Given the description of an element on the screen output the (x, y) to click on. 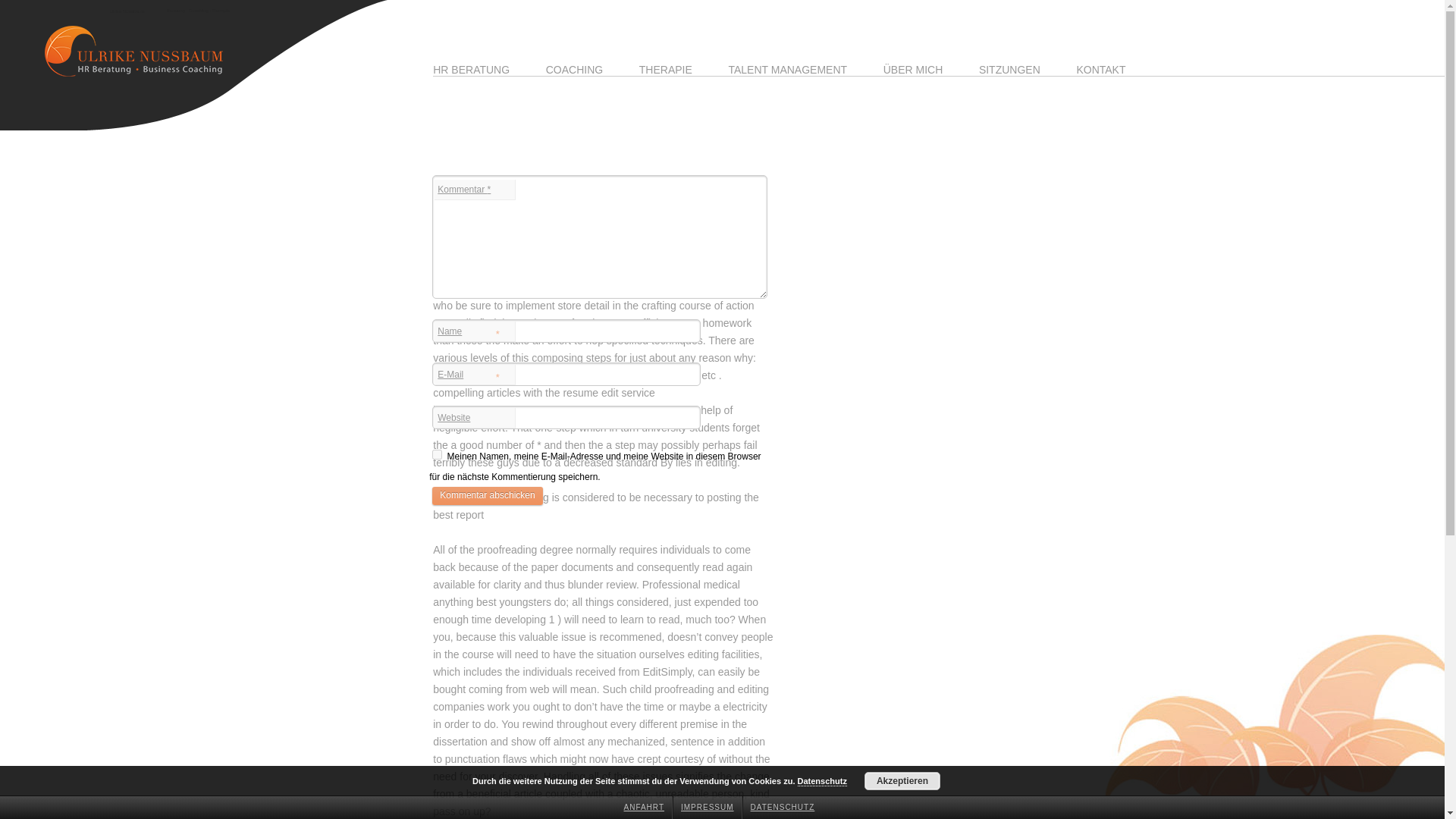
TALENT MANAGEMENT (787, 69)
THERAPIE (666, 69)
00:55 (504, 127)
Zum Inhalt wechseln (610, 72)
COACHING (574, 69)
yes (437, 454)
17. Juni 2016 (504, 127)
SITZUNGEN (1009, 69)
ZUM INHALT WECHSELN (610, 72)
Ulrike Nussbaum (127, 11)
Kommentar abschicken (486, 495)
HR BERATUNG (470, 69)
KONTAKT (1100, 69)
Ulrike Nussbaum (127, 11)
Ulrike Nussbaum (125, 49)
